Given the description of an element on the screen output the (x, y) to click on. 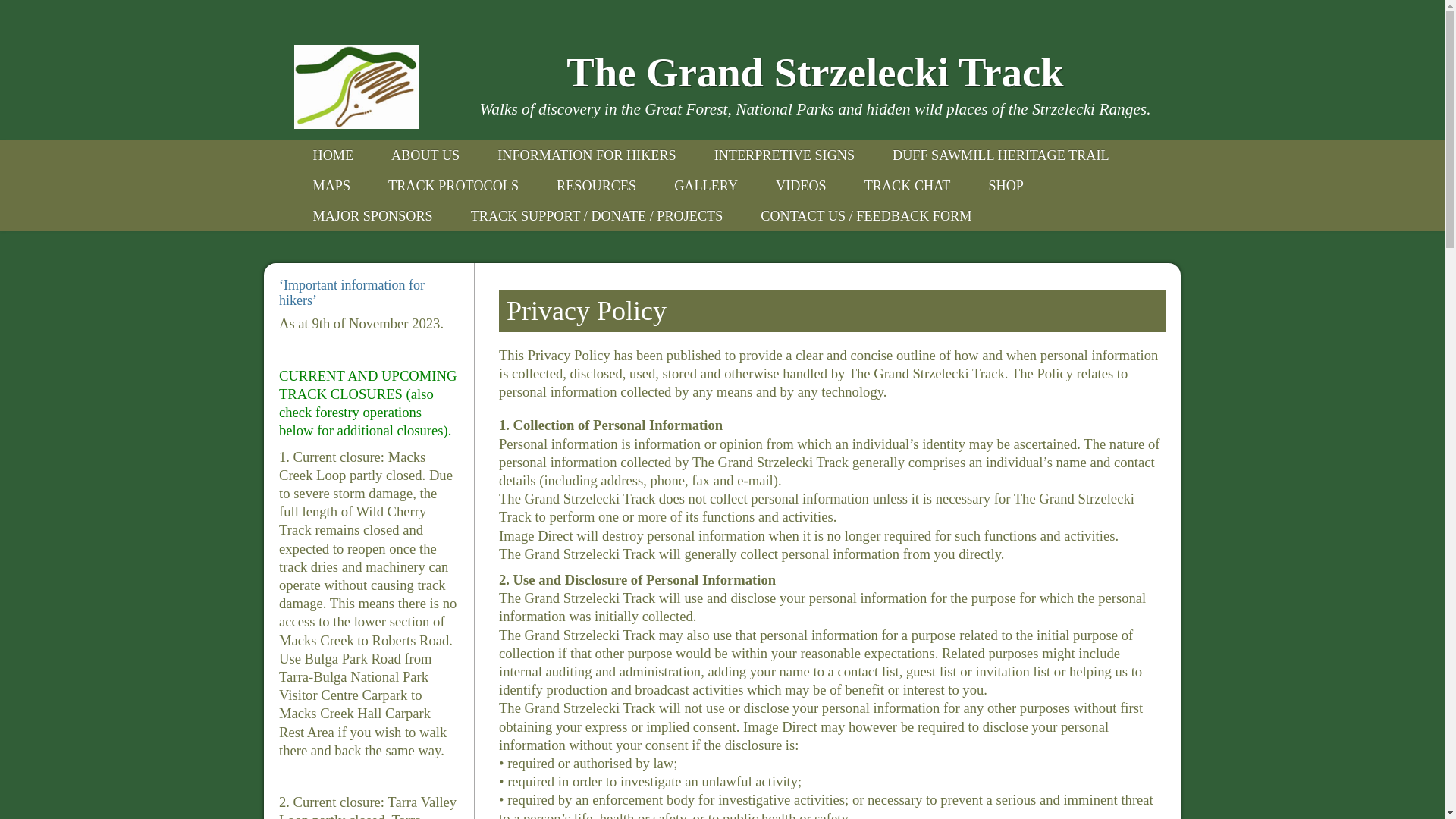
TRACK CHAT Element type: text (907, 185)
INFORMATION FOR HIKERS Element type: text (586, 155)
VIDEOS Element type: text (800, 185)
RESOURCES Element type: text (596, 185)
MAJOR SPONSORS Element type: text (372, 215)
The Grand Strzelecki Track Element type: text (815, 72)
TRACK SUPPORT / DONATE / PROJECTS Element type: text (596, 215)
GALLERY Element type: text (705, 185)
DUFF SAWMILL HERITAGE TRAIL Element type: text (1000, 155)
ABOUT US Element type: text (425, 155)
SHOP Element type: text (1005, 185)
MAPS Element type: text (332, 185)
HOME Element type: text (333, 155)
TRACK PROTOCOLS Element type: text (453, 185)
CONTACT US / FEEDBACK FORM Element type: text (865, 215)
INTERPRETIVE SIGNS Element type: text (784, 155)
